Given the description of an element on the screen output the (x, y) to click on. 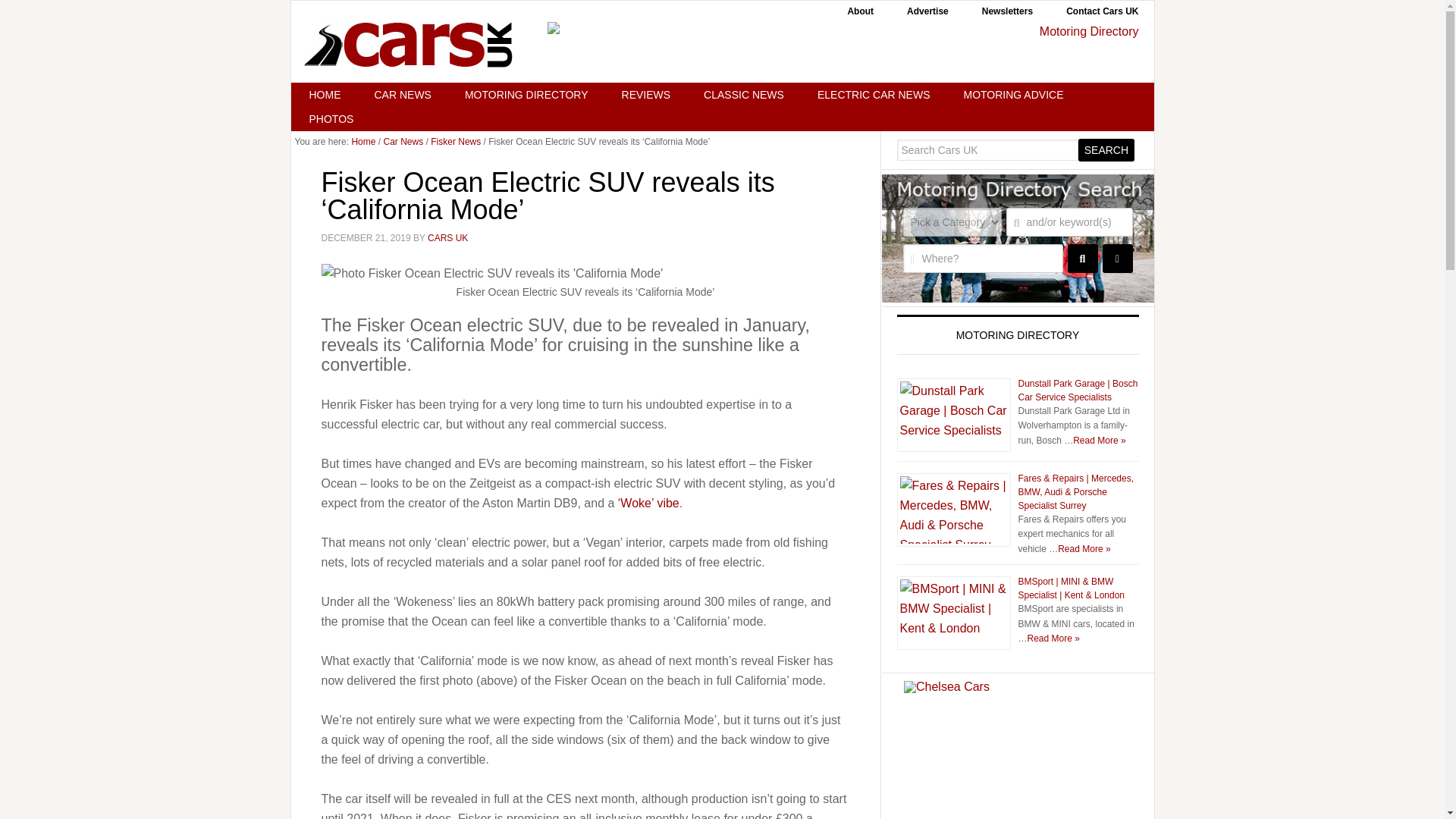
About (859, 11)
PHOTOS (331, 119)
SEARCH (1082, 258)
Fisker News (455, 141)
CARS UK (408, 44)
Search (1106, 149)
ELECTRIC CAR NEWS (874, 94)
CAR NEWS (402, 94)
Home (362, 141)
CARS UK (447, 236)
Advertise (927, 11)
CLASSIC NEWS (743, 94)
MOTORING DIRECTORY (526, 94)
Newsletters (1007, 11)
HOME (325, 94)
